Given the description of an element on the screen output the (x, y) to click on. 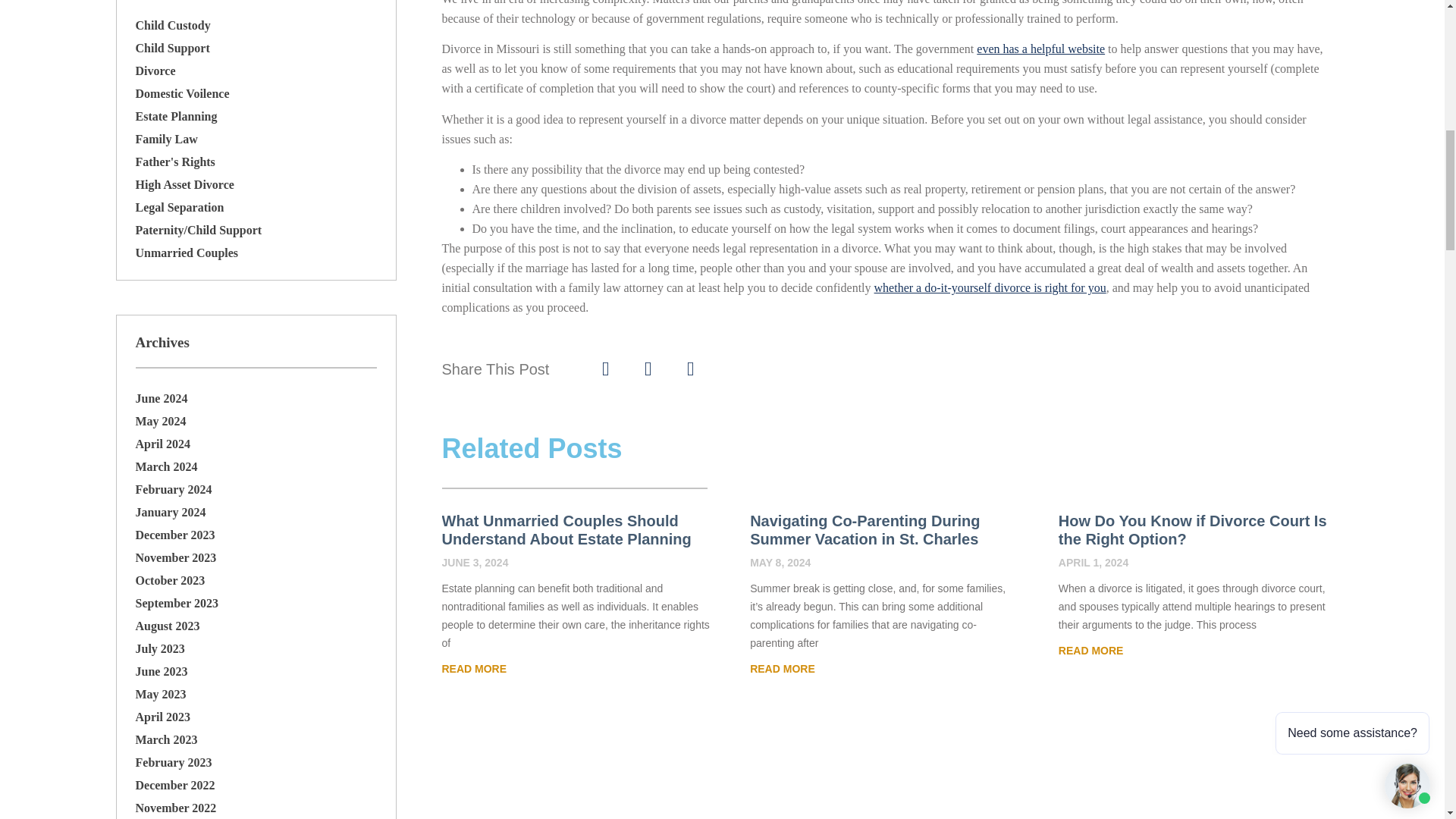
Domestic Voilence (181, 92)
Father's Rights (174, 161)
High Asset Divorce (183, 184)
June 2024 (161, 398)
December 2023 (174, 534)
May 2024 (160, 420)
January 2024 (170, 512)
Unmarried Couples (186, 252)
Divorce (154, 70)
March 2024 (165, 466)
April 2024 (162, 443)
Child Custody (172, 24)
Legal Separation (179, 206)
Estate Planning (175, 115)
Family Law (165, 138)
